Given the description of an element on the screen output the (x, y) to click on. 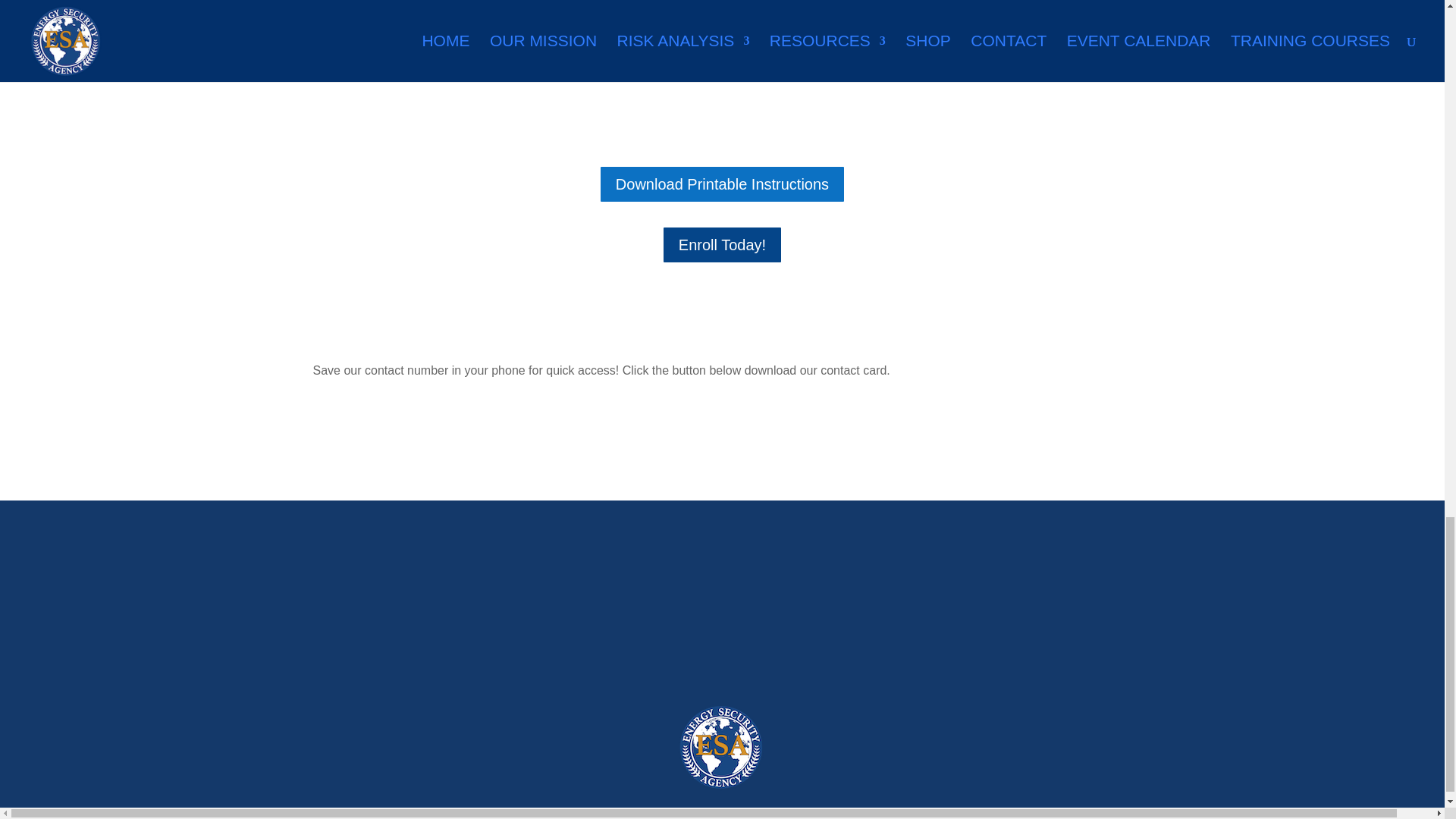
Enroll Today! (722, 244)
Download Printable Instructions (721, 184)
ESA Signature (721, 746)
